Given the description of an element on the screen output the (x, y) to click on. 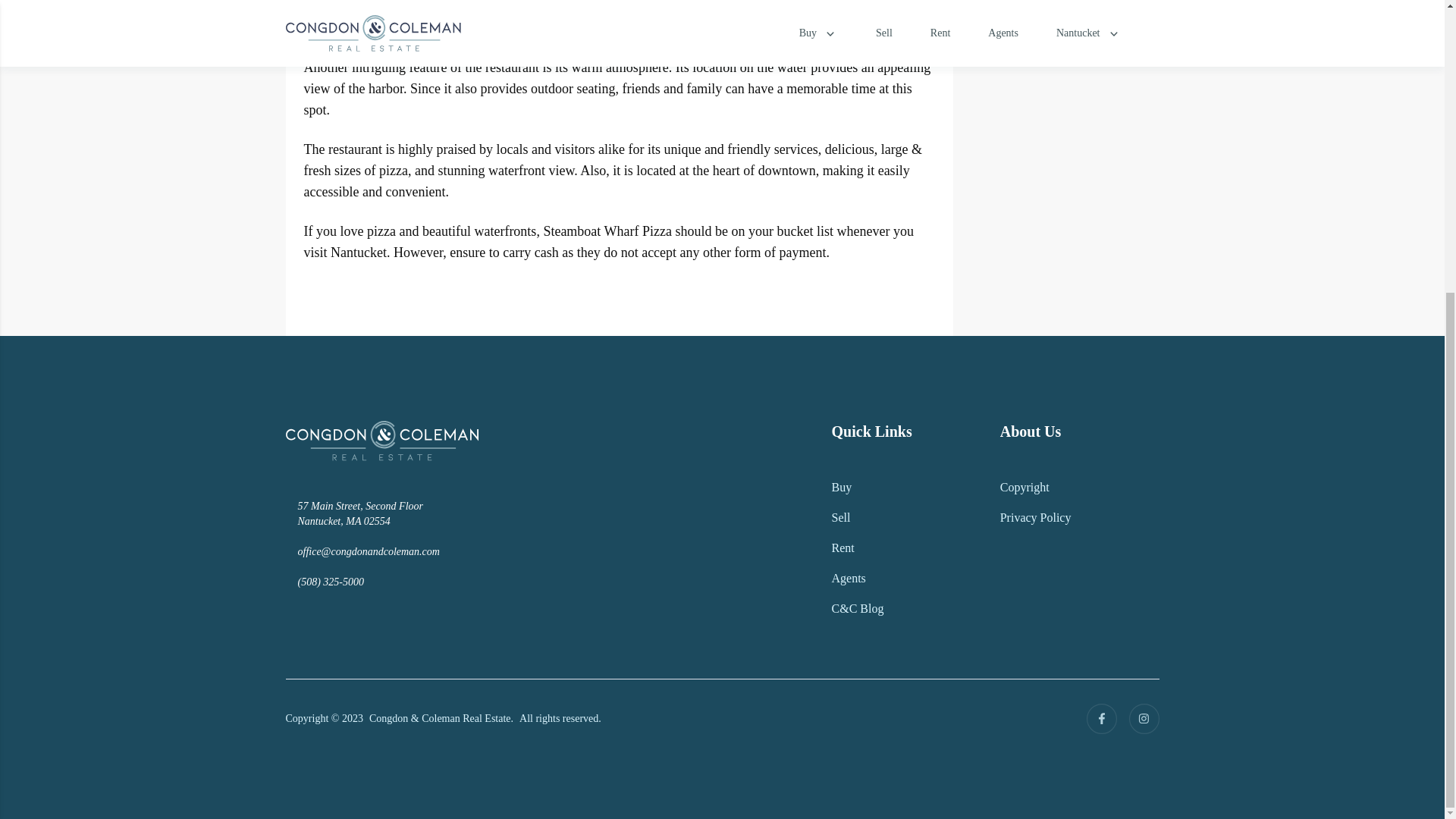
Rent (842, 547)
Agents (848, 577)
Copyright (1024, 486)
Privacy Policy (1035, 517)
Buy (841, 486)
Sell (840, 517)
